Given the description of an element on the screen output the (x, y) to click on. 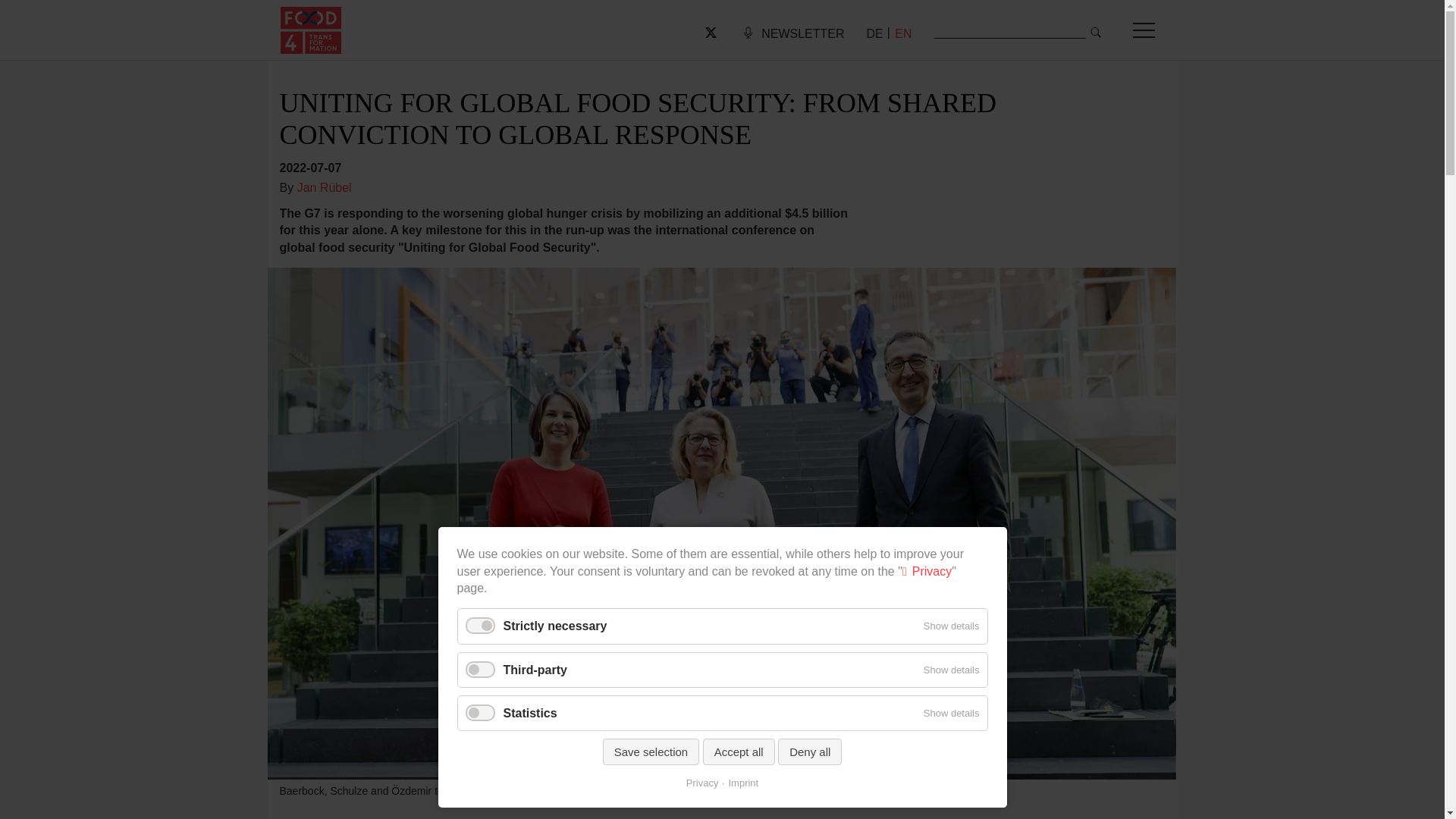
NEWSLETTER (802, 33)
Subscribe (802, 33)
Details (874, 33)
Home (310, 30)
DE (874, 33)
Suchen (1095, 32)
